Given the description of an element on the screen output the (x, y) to click on. 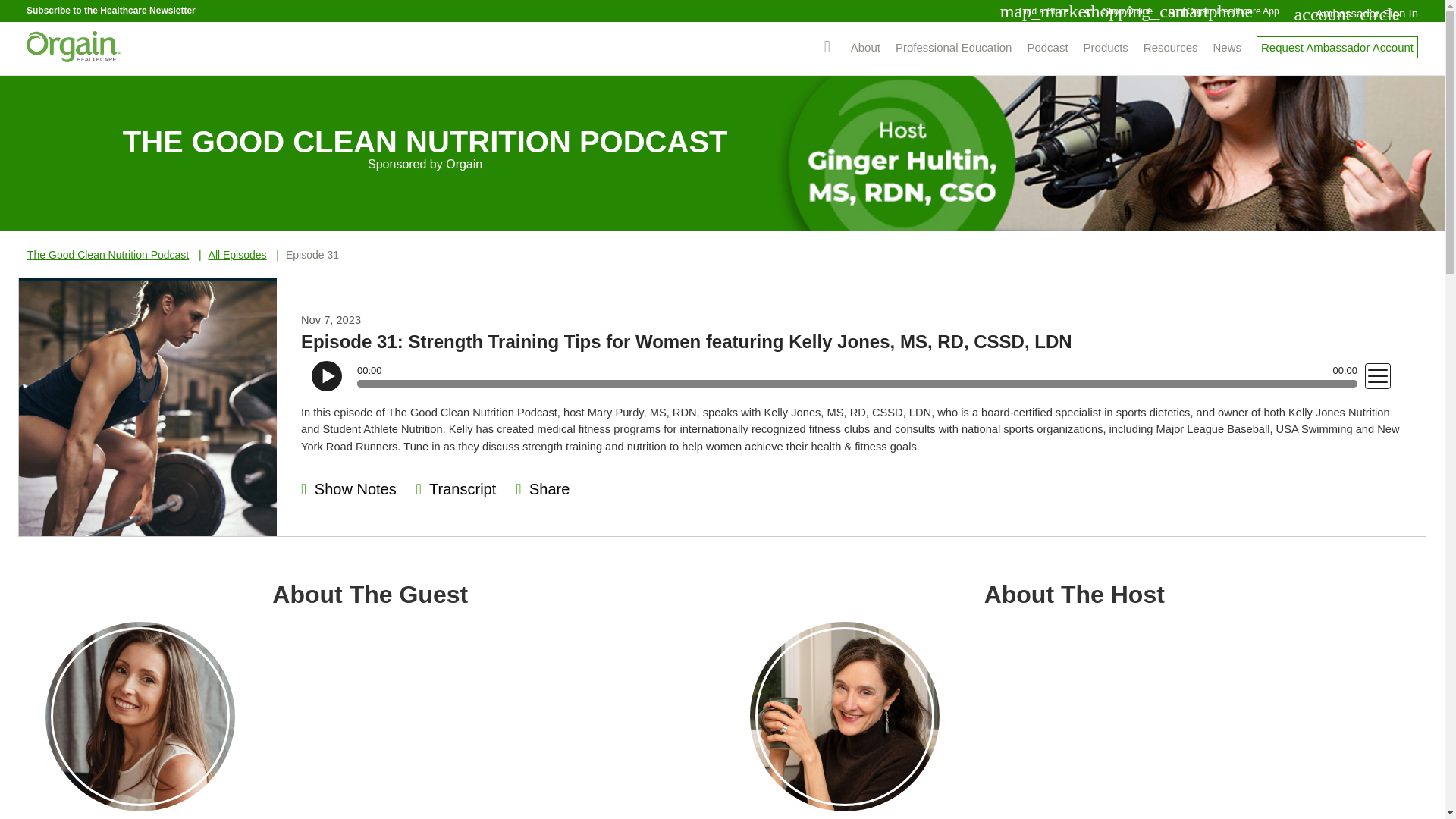
About (865, 47)
Ambassador Sign In (1367, 12)
Professional Education (953, 47)
News (1226, 47)
Subscribe to the Healthcare Newsletter (110, 9)
Resources (1170, 47)
Shop Online (1127, 10)
Orgain Healthcare App (1232, 10)
Products (1105, 47)
Find a Store (1043, 10)
Podcast (1046, 47)
